Given the description of an element on the screen output the (x, y) to click on. 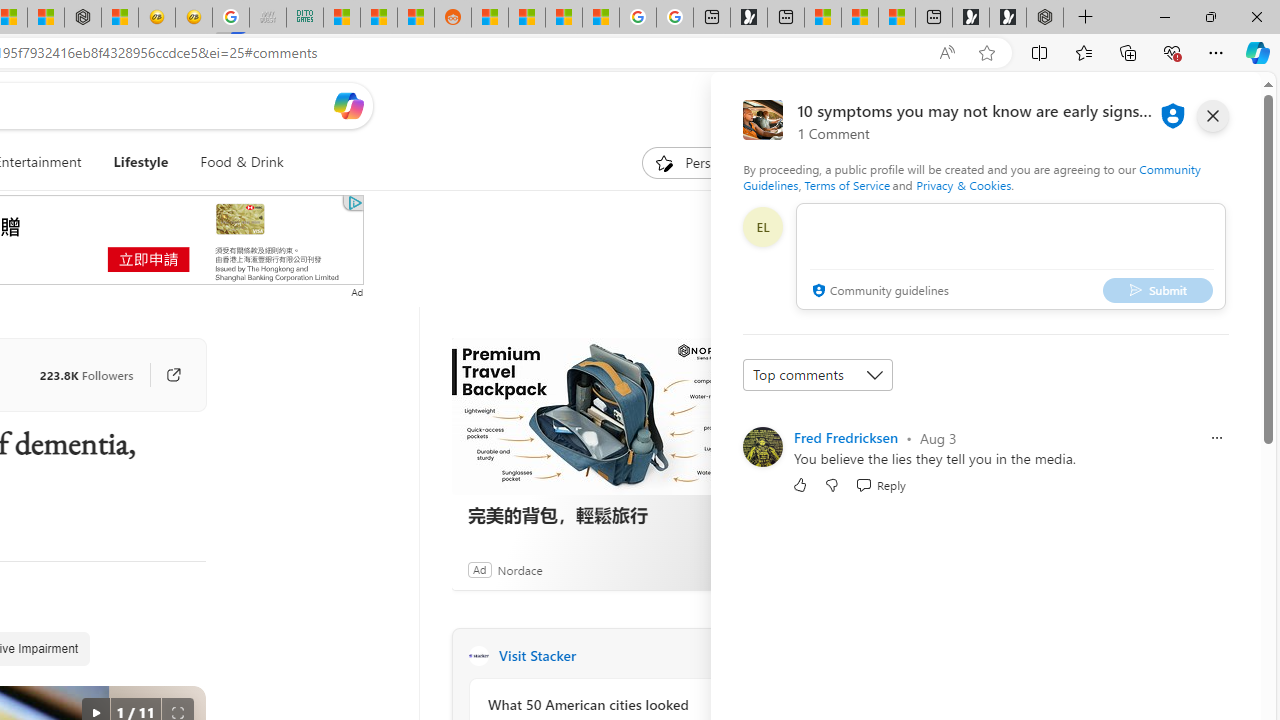
close (1212, 115)
Go to publisher's site (173, 374)
Ad (479, 569)
Visit Stacker website (726, 655)
To get missing image descriptions, open the context menu. (664, 162)
Sort comments by (817, 374)
Fred Fredricksen (845, 437)
Open Copilot (347, 105)
MSN (415, 17)
